Given the description of an element on the screen output the (x, y) to click on. 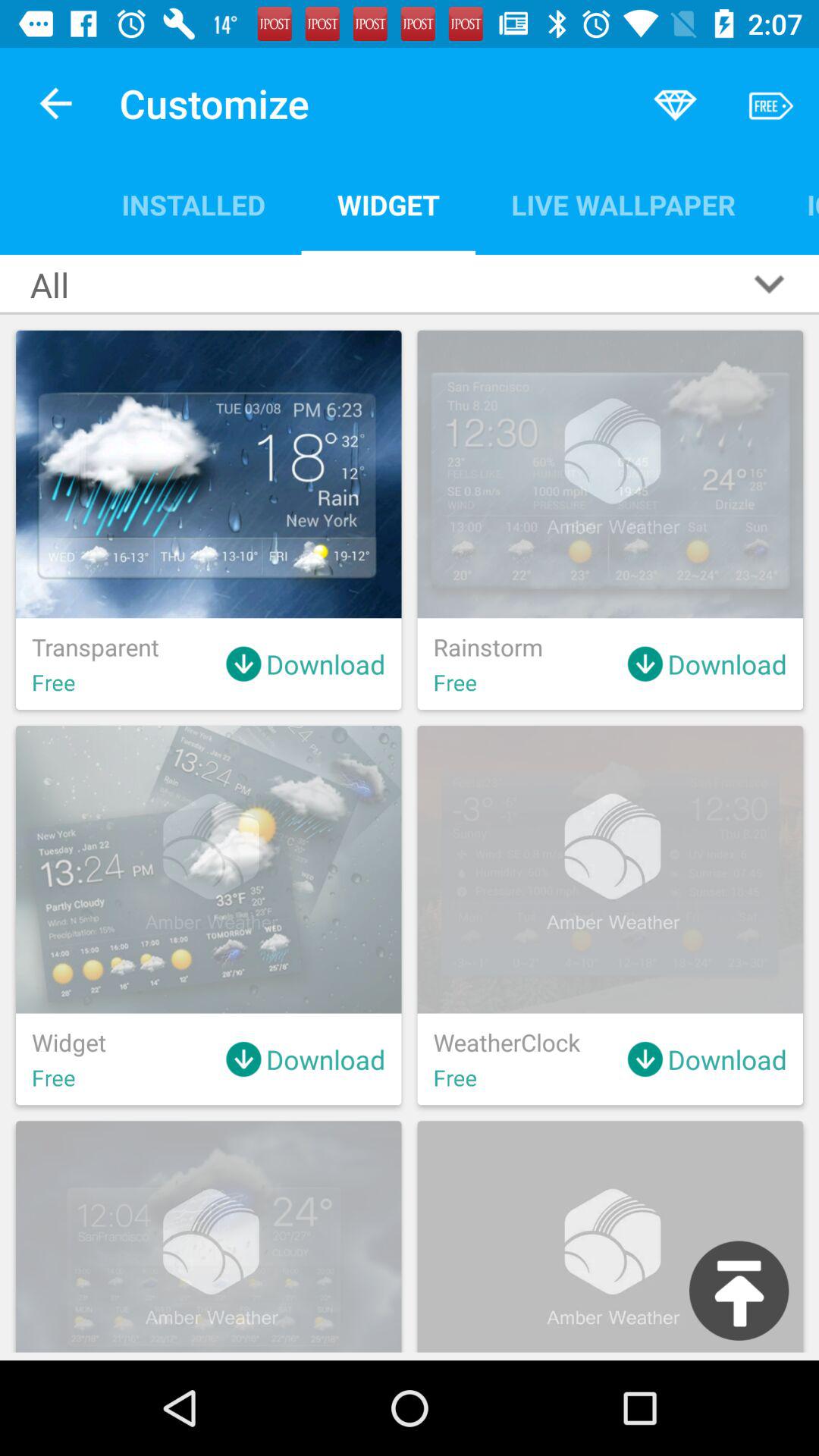
click icon set item (795, 204)
